Given the description of an element on the screen output the (x, y) to click on. 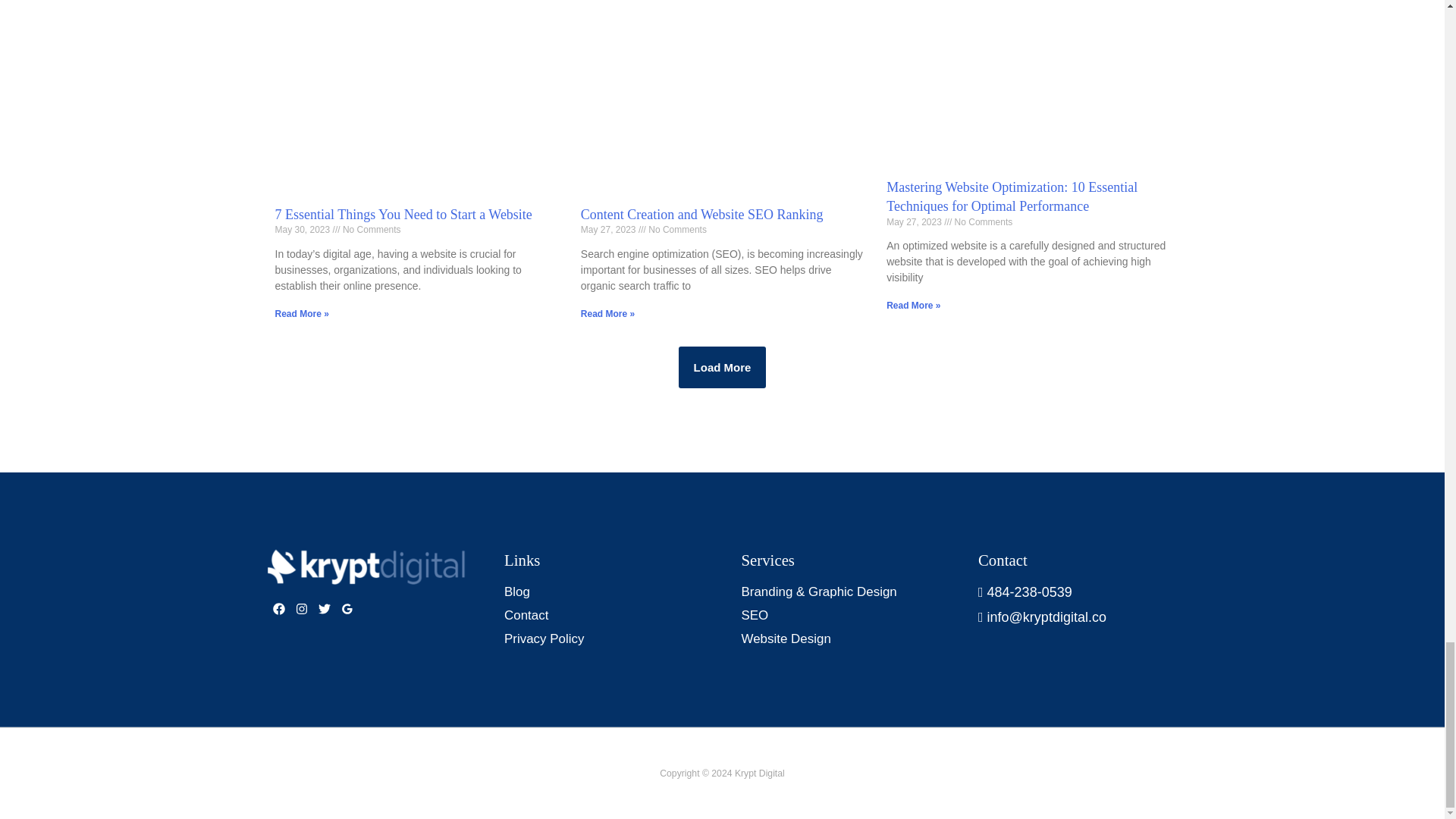
7 Essential Things You Need to Start a Website (403, 214)
Content Creation and Website SEO Ranking (702, 214)
Load More (722, 367)
